Given the description of an element on the screen output the (x, y) to click on. 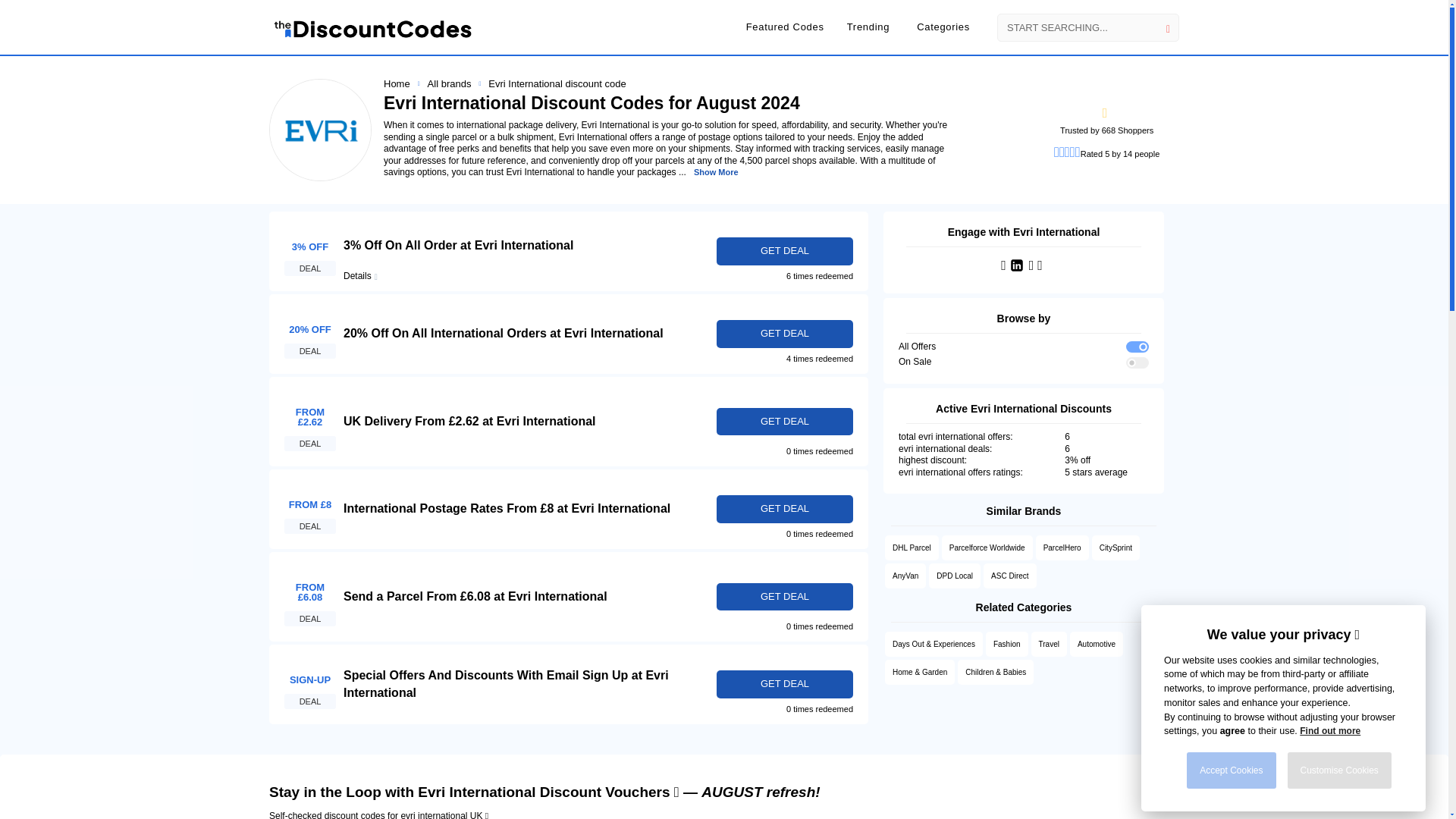
Get Deal (784, 509)
Get Deal (784, 684)
Evri International (309, 684)
DHL Parcel (912, 547)
All Categories (945, 27)
Get Deal (784, 421)
Get Deal (784, 334)
Get Deal (784, 596)
Evri International (309, 251)
Featured Discount Codes (784, 27)
